Given the description of an element on the screen output the (x, y) to click on. 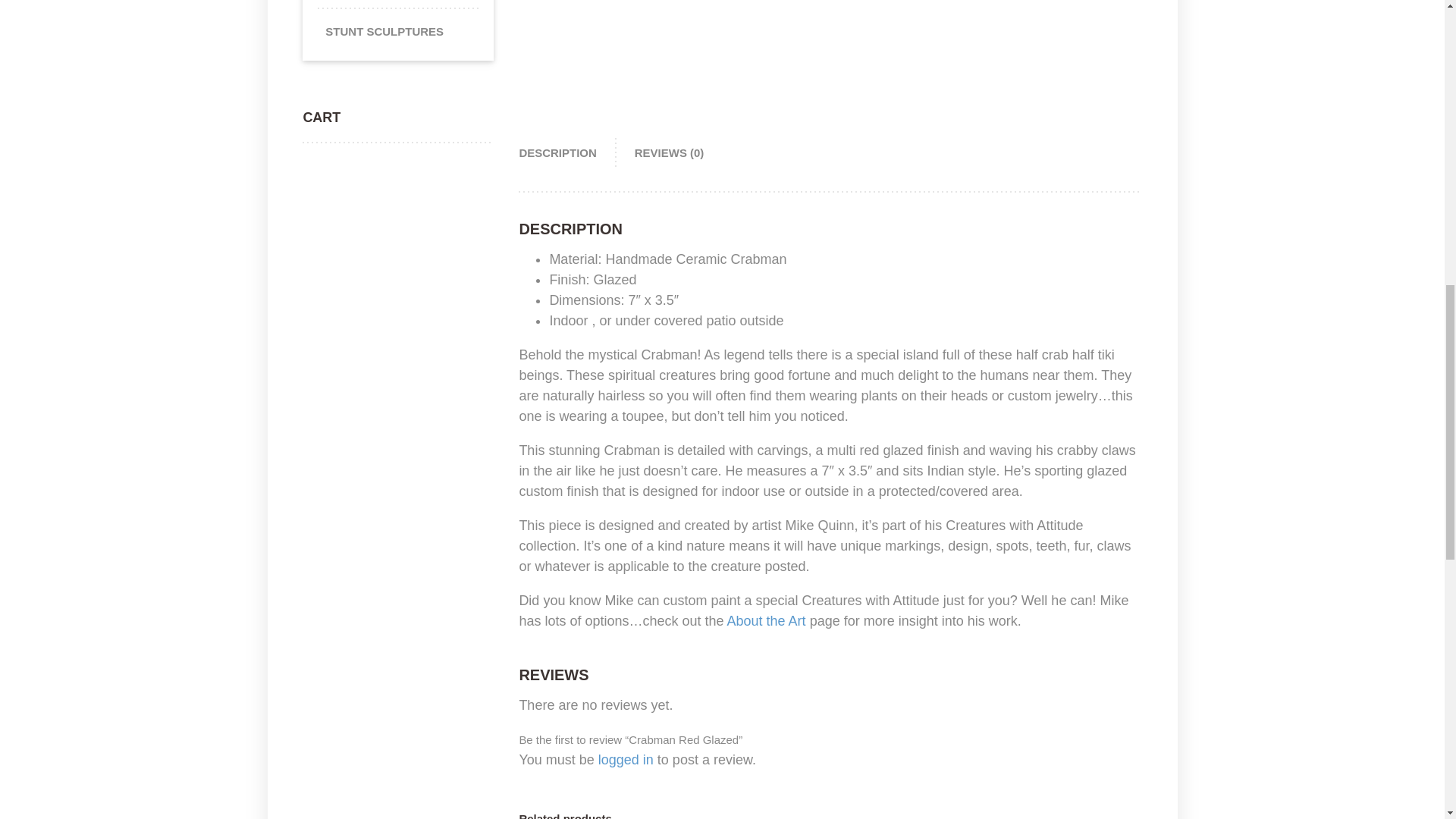
logged in (625, 759)
DESCRIPTION (566, 152)
About the Art (766, 620)
